Given the description of an element on the screen output the (x, y) to click on. 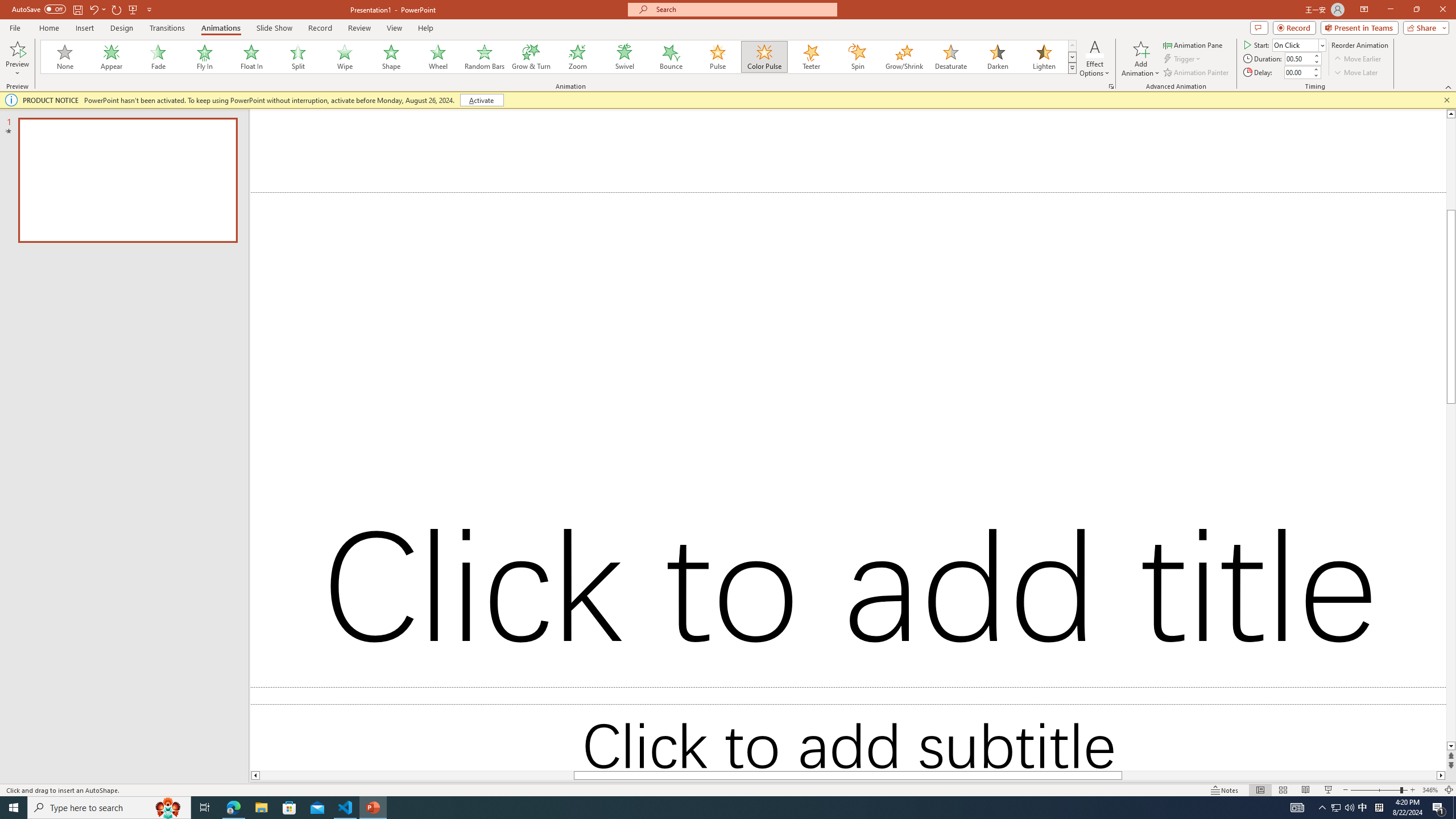
Spin (857, 56)
Split (298, 56)
Darken (997, 56)
Animation Duration (1298, 58)
AutomationID: AnimationGallery (558, 56)
Fly In (205, 56)
Effect Options (1094, 58)
